Given the description of an element on the screen output the (x, y) to click on. 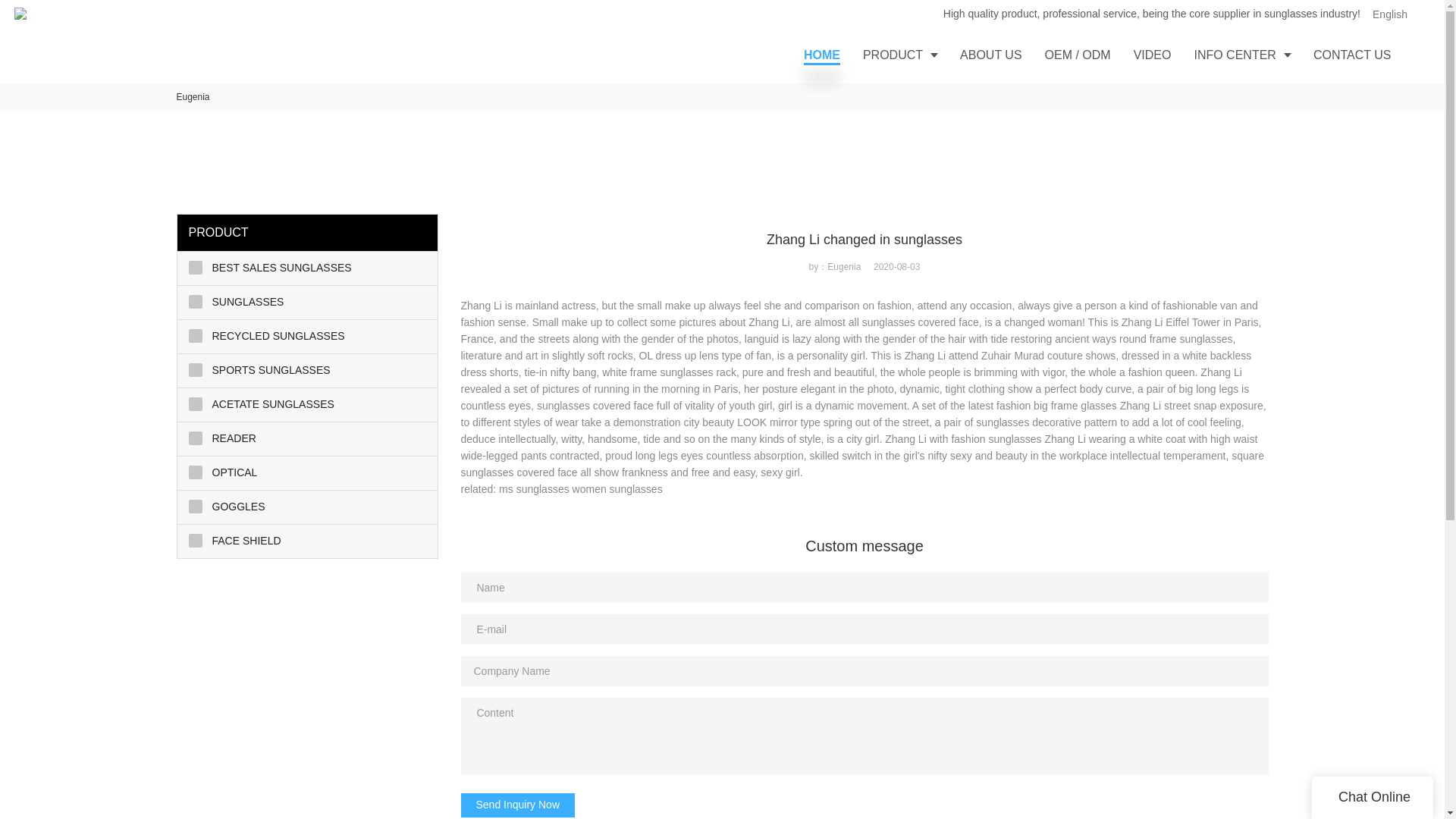
ABOUT US (991, 55)
BEST SALES SUNGLASSES (307, 268)
VIDEO (1152, 55)
HOME (821, 55)
CONTACT US (1352, 55)
PRODUCT (900, 55)
SUNGLASSES (307, 302)
INFO CENTER (1241, 55)
RECYCLED SUNGLASSES (307, 336)
Eugenia (192, 96)
